Given the description of an element on the screen output the (x, y) to click on. 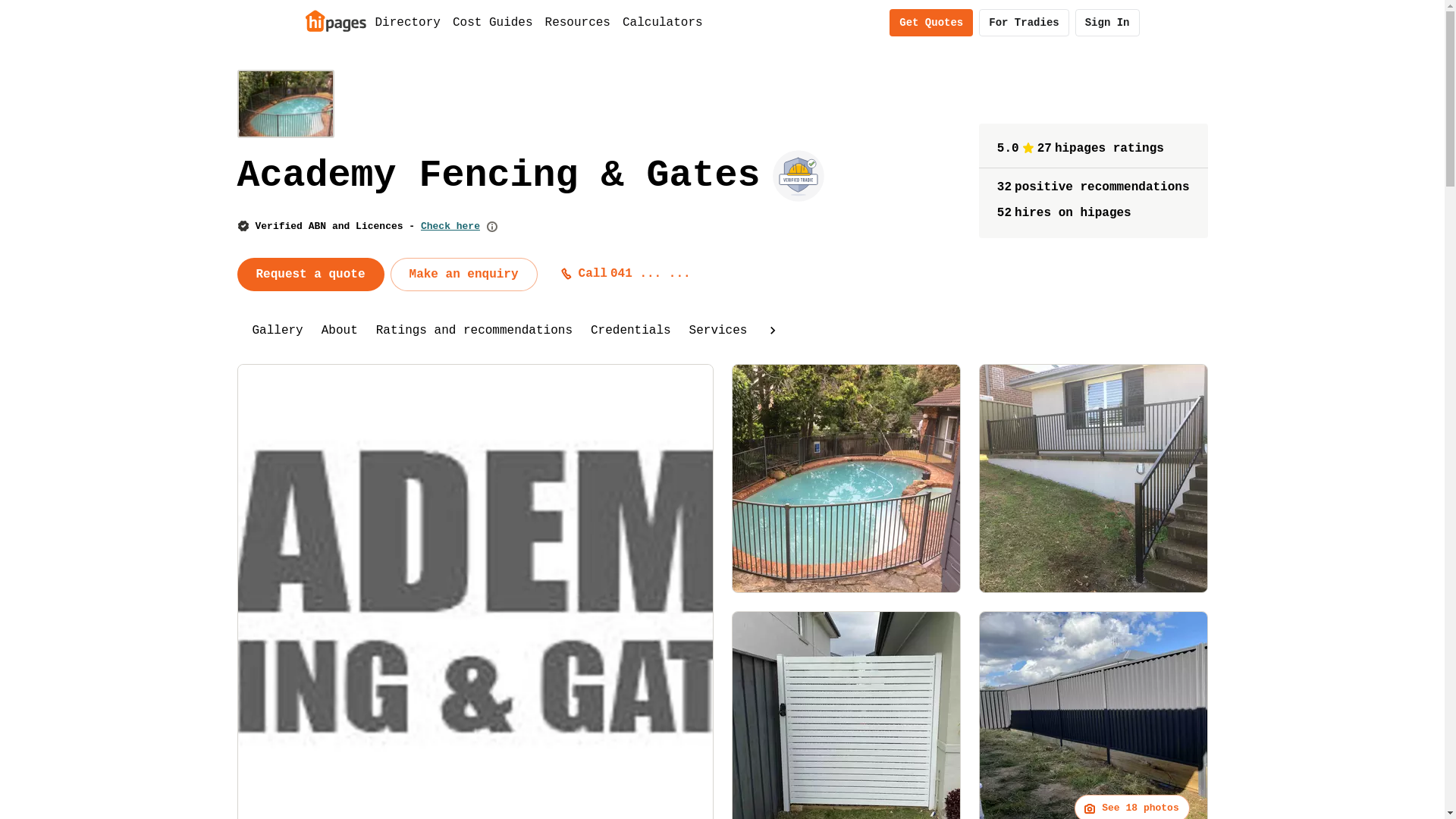
Get Quotes Element type: text (930, 22)
Directory Element type: text (406, 22)
Gallery Element type: text (276, 330)
Ratings and recommendations Element type: text (474, 330)
Call
041 ... ... Element type: text (626, 273)
Services Element type: text (718, 330)
Resources Element type: text (577, 22)
About Element type: text (339, 330)
Home Element type: hover (334, 20)
For Tradies Element type: text (1023, 22)
Cost Guides Element type: text (492, 22)
Request a quote Element type: text (309, 274)
Calculators Element type: text (662, 22)
Make an enquiry Element type: text (463, 274)
Credentials Element type: text (630, 330)
Verified ABN and Licences - Check here Element type: text (366, 226)
Call
041 ... ... Element type: text (629, 273)
Sign In Element type: text (1107, 22)
